Given the description of an element on the screen output the (x, y) to click on. 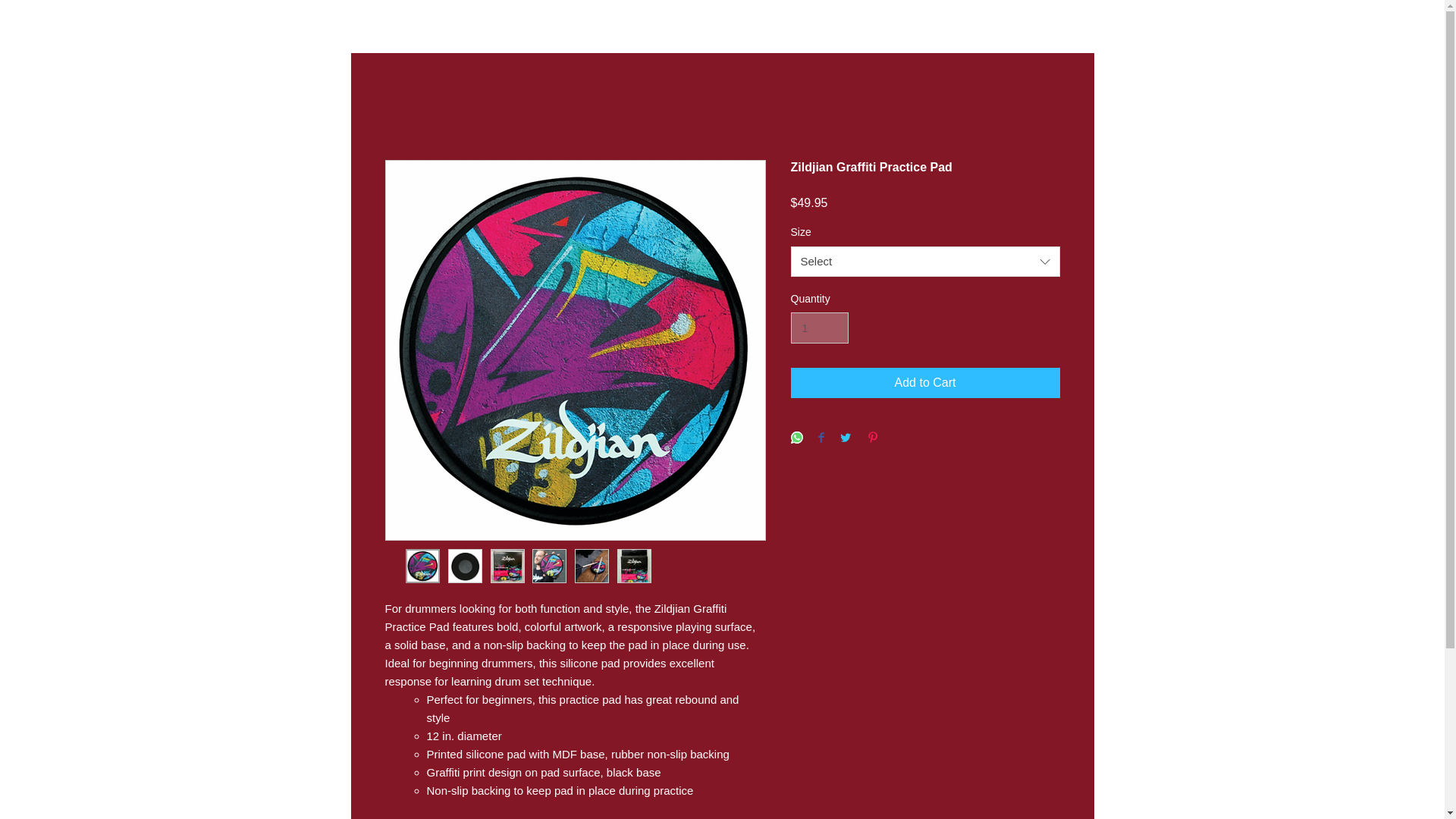
HOME (371, 23)
CREATE (1019, 23)
ABOUT (408, 23)
ENSEMBLE PROGRAM (575, 23)
PERFORM (927, 23)
SUMMER (732, 23)
1 (818, 327)
PIANO LESSONS (668, 23)
SHOP (775, 23)
LESSONS (497, 23)
EVENTS (451, 23)
Select (924, 261)
ADULTS (975, 23)
RENT PRACTICE SPACE (847, 23)
Add to Cart (924, 382)
